Given the description of an element on the screen output the (x, y) to click on. 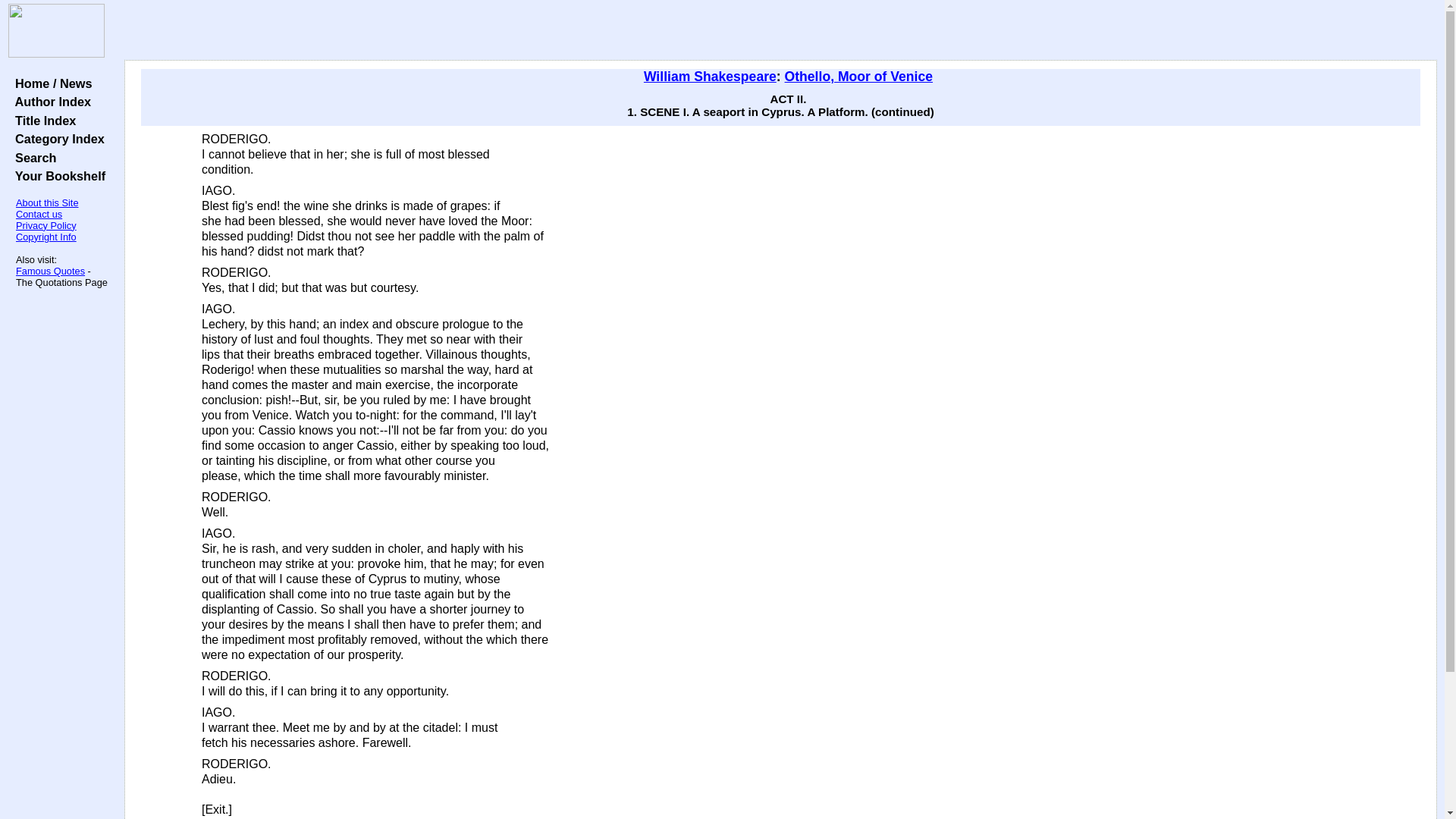
  Your Bookshelf (56, 175)
  Author Index (49, 101)
About this Site (47, 202)
William Shakespeare (709, 76)
Copyright Info (46, 236)
Privacy Policy (46, 225)
  Title Index (41, 120)
  Category Index (56, 138)
Othello, Moor of Venice (858, 76)
  Search (32, 157)
